Given the description of an element on the screen output the (x, y) to click on. 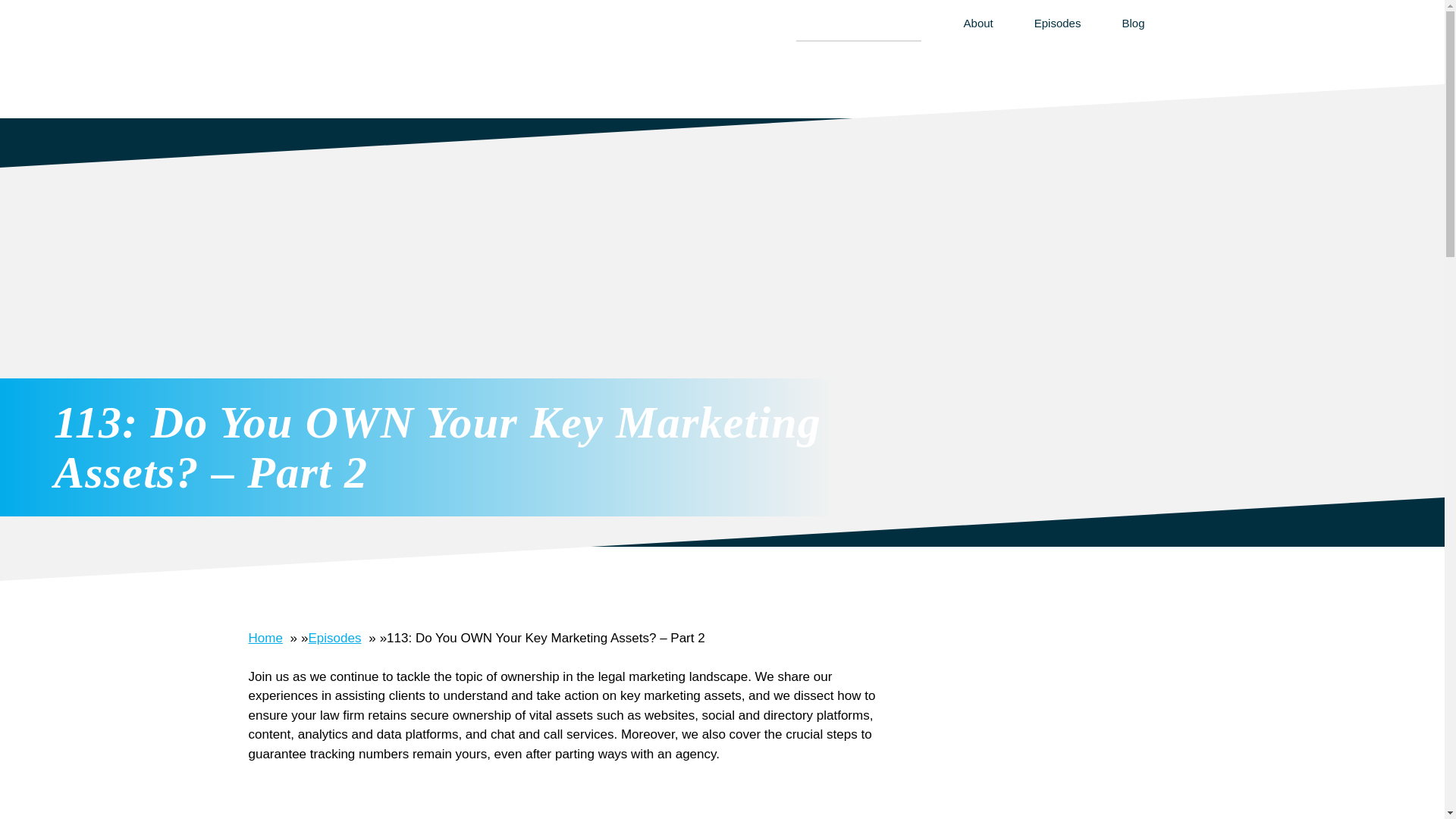
Embed Player (570, 797)
Your Law Firm is a Business (413, 43)
Blog (1122, 23)
Episodes (334, 637)
About (978, 23)
Search (782, 31)
Search (782, 31)
Episodes (1057, 23)
Search (782, 31)
Home (265, 637)
